Given the description of an element on the screen output the (x, y) to click on. 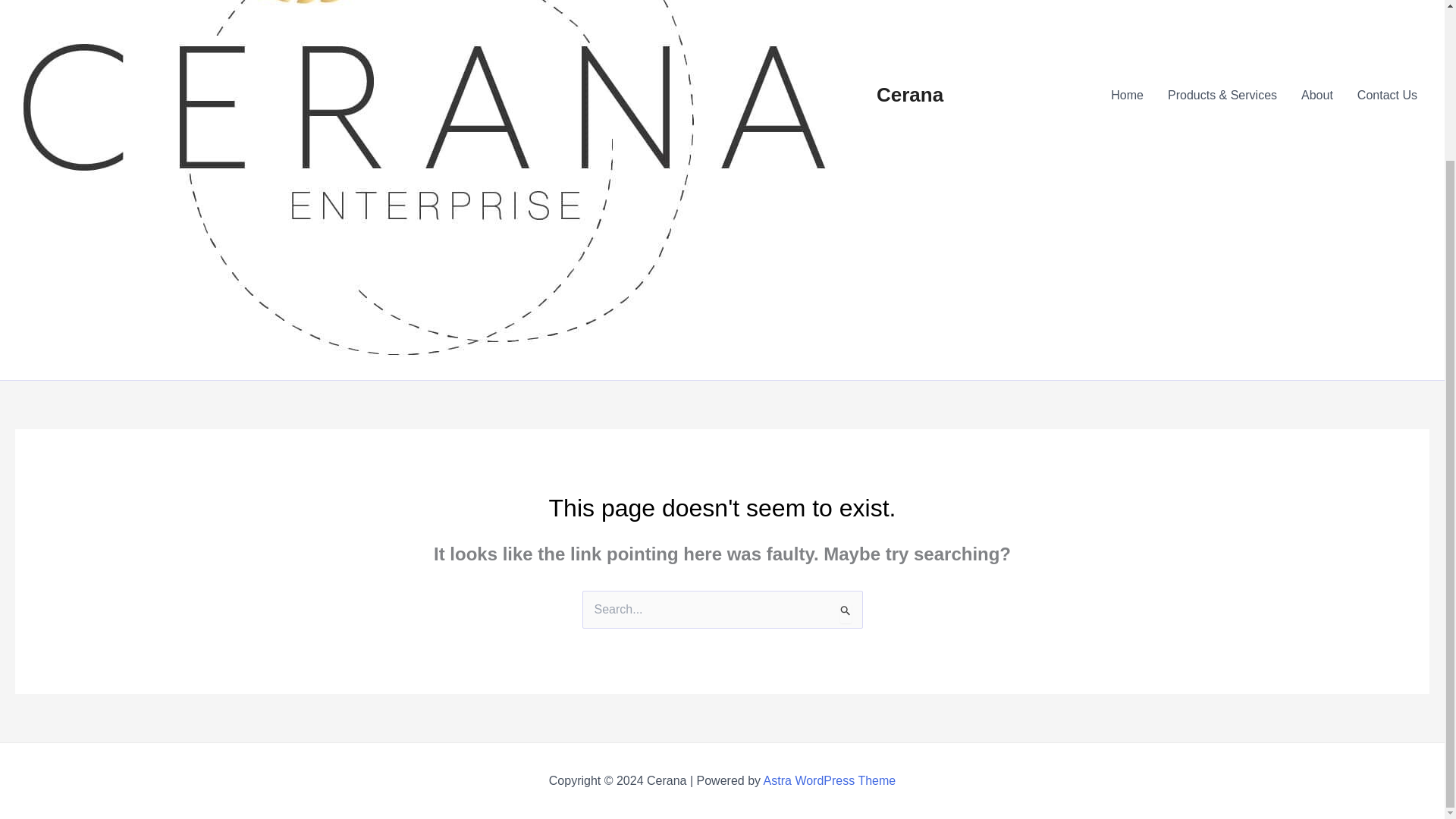
Contact Us (1387, 95)
Astra WordPress Theme (829, 780)
Home (1127, 95)
Cerana (909, 94)
About (1316, 95)
